Given the description of an element on the screen output the (x, y) to click on. 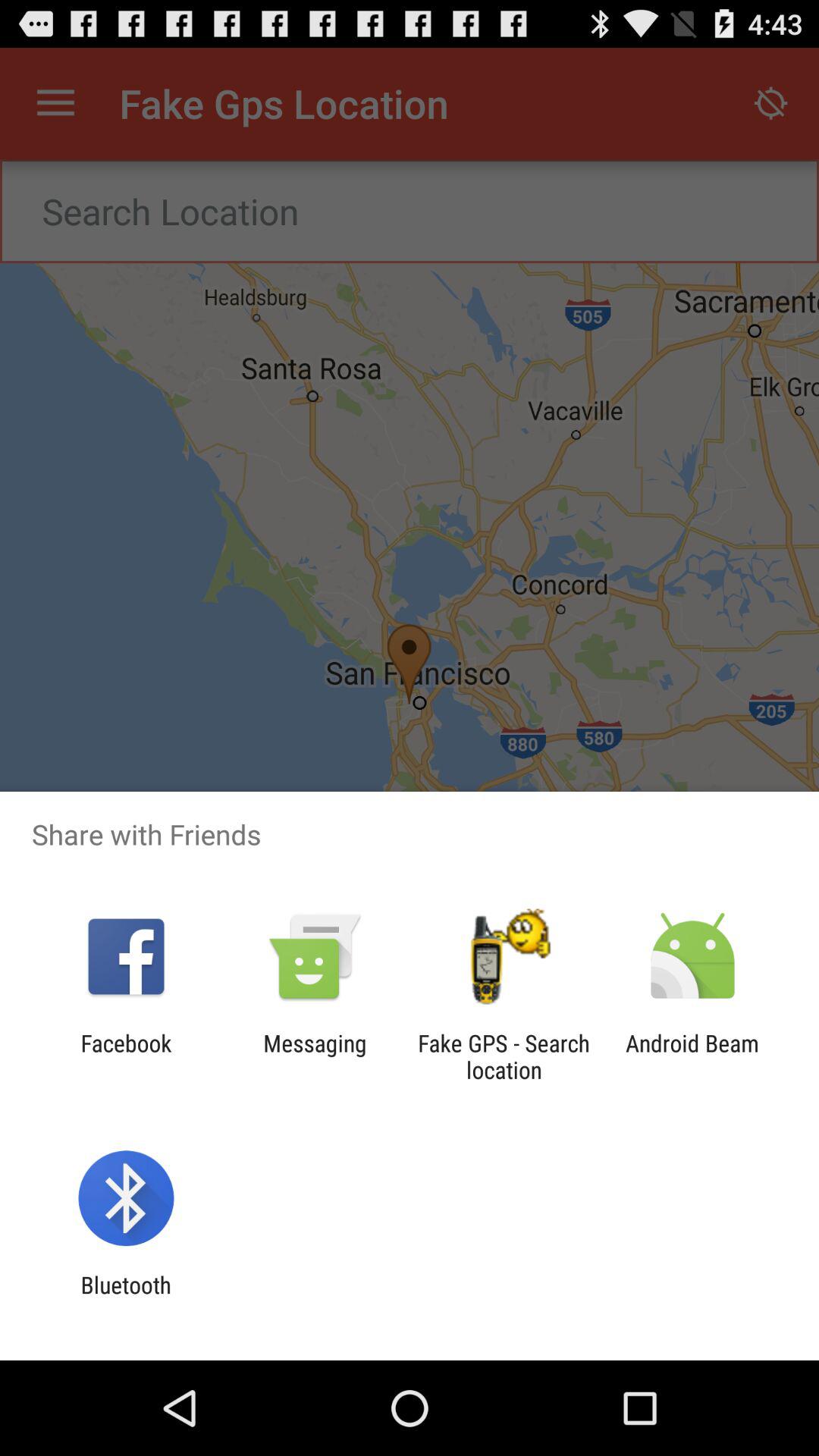
press the app to the right of the fake gps search (692, 1056)
